Given the description of an element on the screen output the (x, y) to click on. 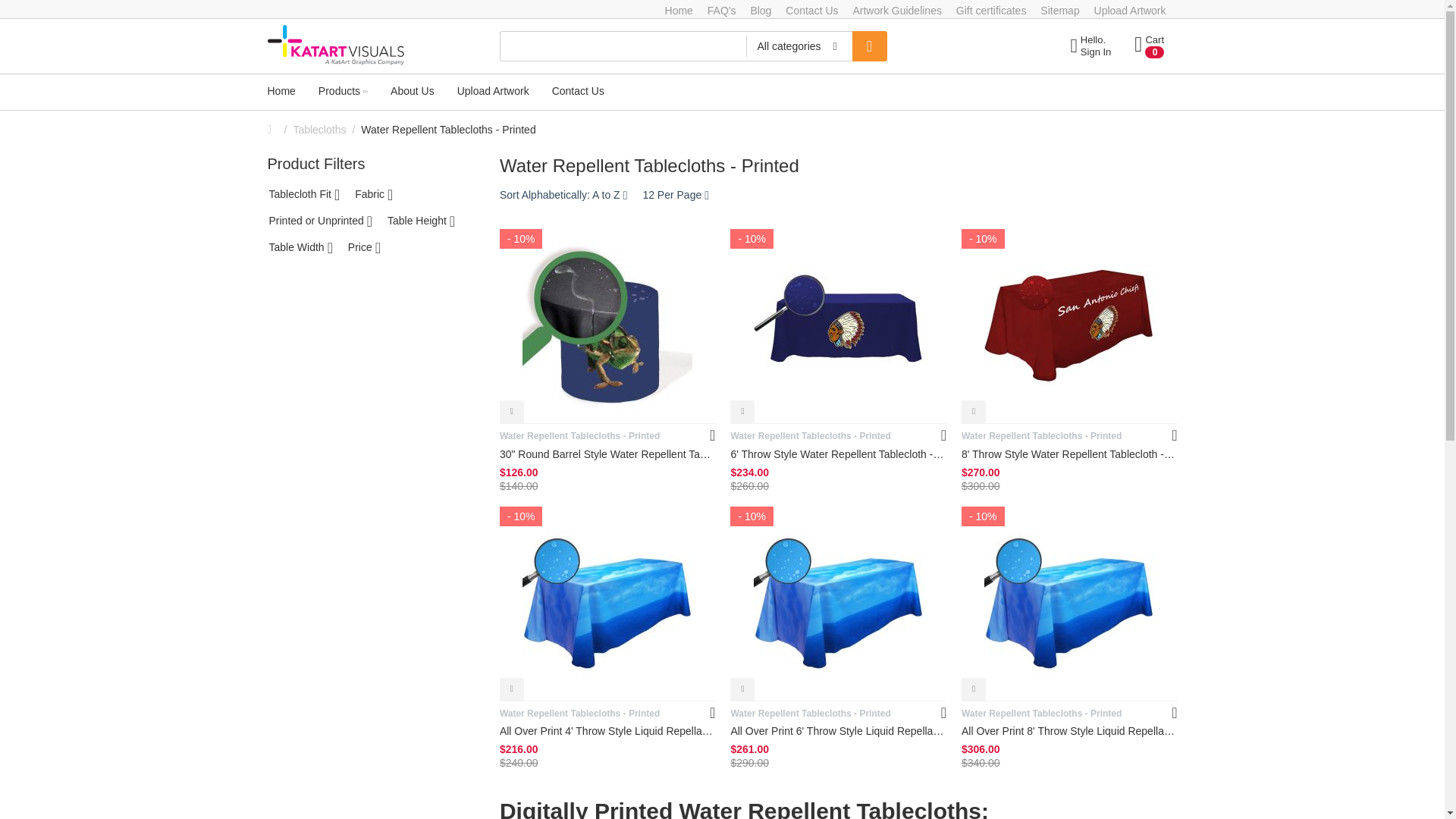
All Over Print 4' Throw Style Liquid Repellant Tablecloth (607, 731)
30" Round Barrel Style Water Repellent Tablecloth (607, 454)
Upload Artwork (1148, 39)
Gift certificates (1130, 10)
Sitemap (991, 10)
Search (1059, 10)
6' Throw Style Water Repellent Tablecloth - 90" x 132" (868, 46)
Search products (838, 454)
8' Throw Style Water Repellent Tablecloth - 90" x 156" (692, 46)
Home (1068, 454)
FAQ's (281, 91)
Artwork Guidelines (721, 10)
Products (896, 10)
Contact Us (342, 91)
